Given the description of an element on the screen output the (x, y) to click on. 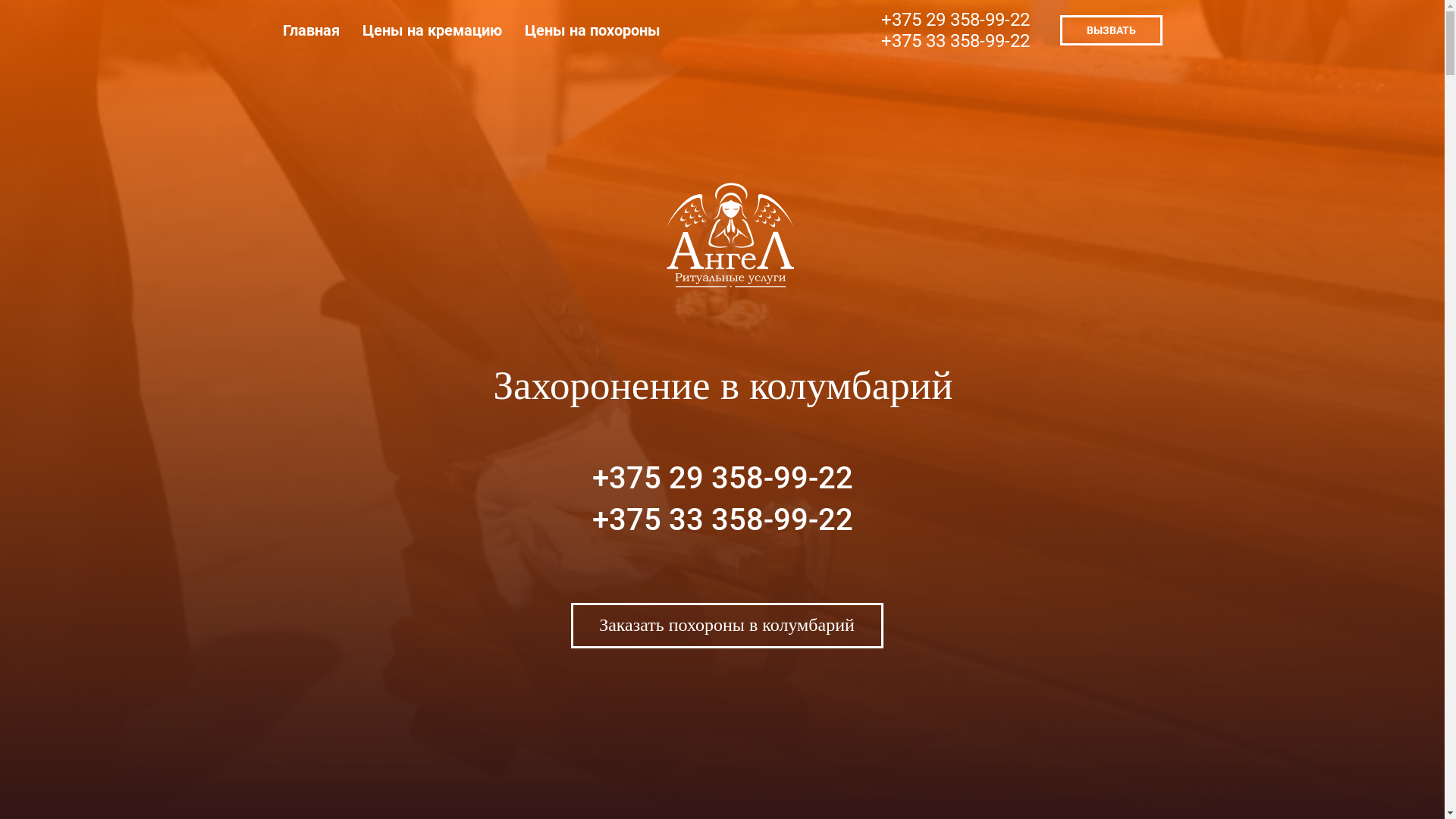
+375 33 358-99-22 Element type: text (955, 40)
+375 29 358-99-22 Element type: text (955, 19)
+375 33 358-99-22 Element type: text (721, 519)
+375 29 358-99-22 Element type: text (721, 477)
